Given the description of an element on the screen output the (x, y) to click on. 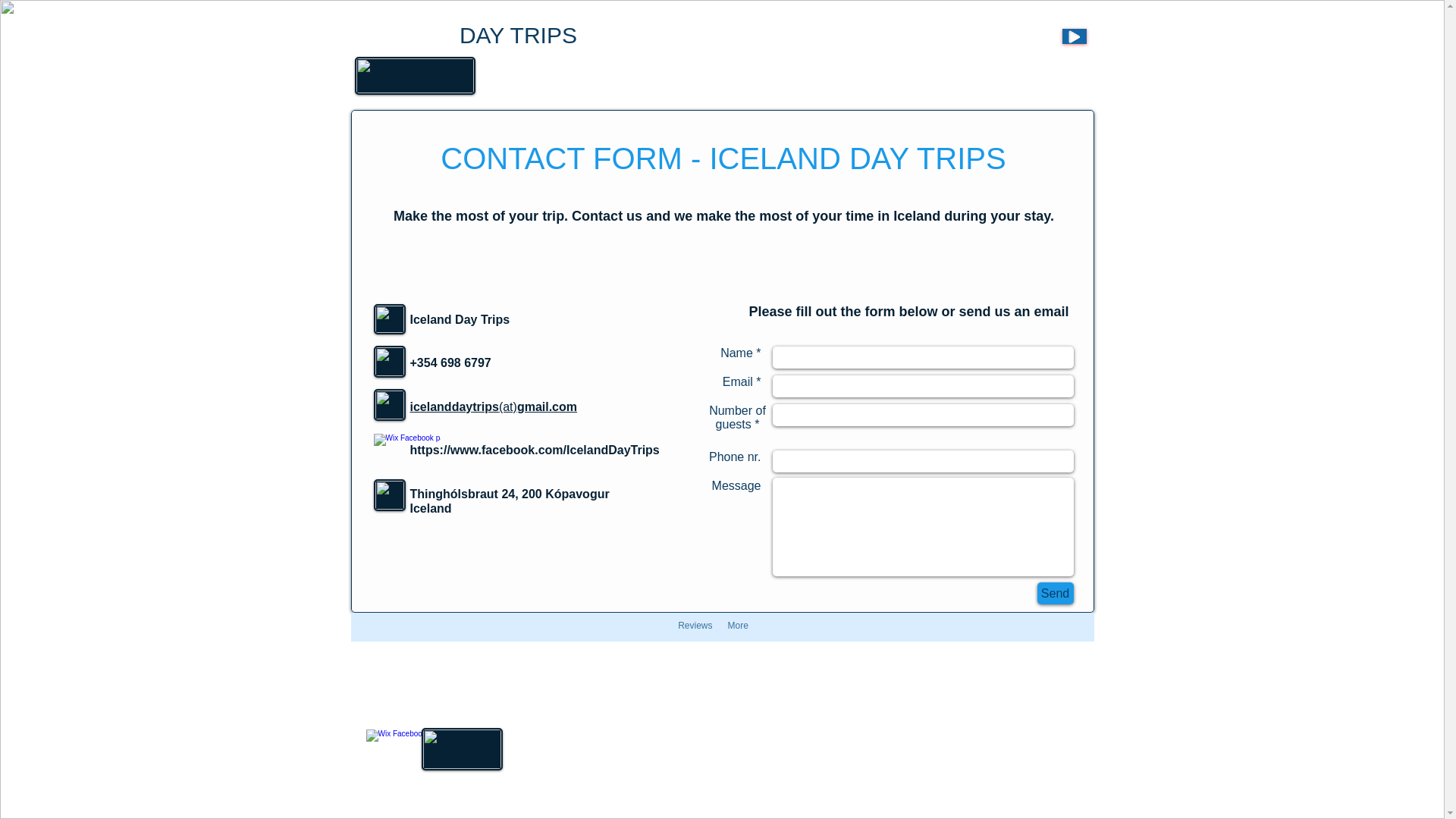
Reviews (536, 77)
Send (1055, 593)
Reviews (694, 630)
ICELAND DAY TRIPS (465, 34)
